Given the description of an element on the screen output the (x, y) to click on. 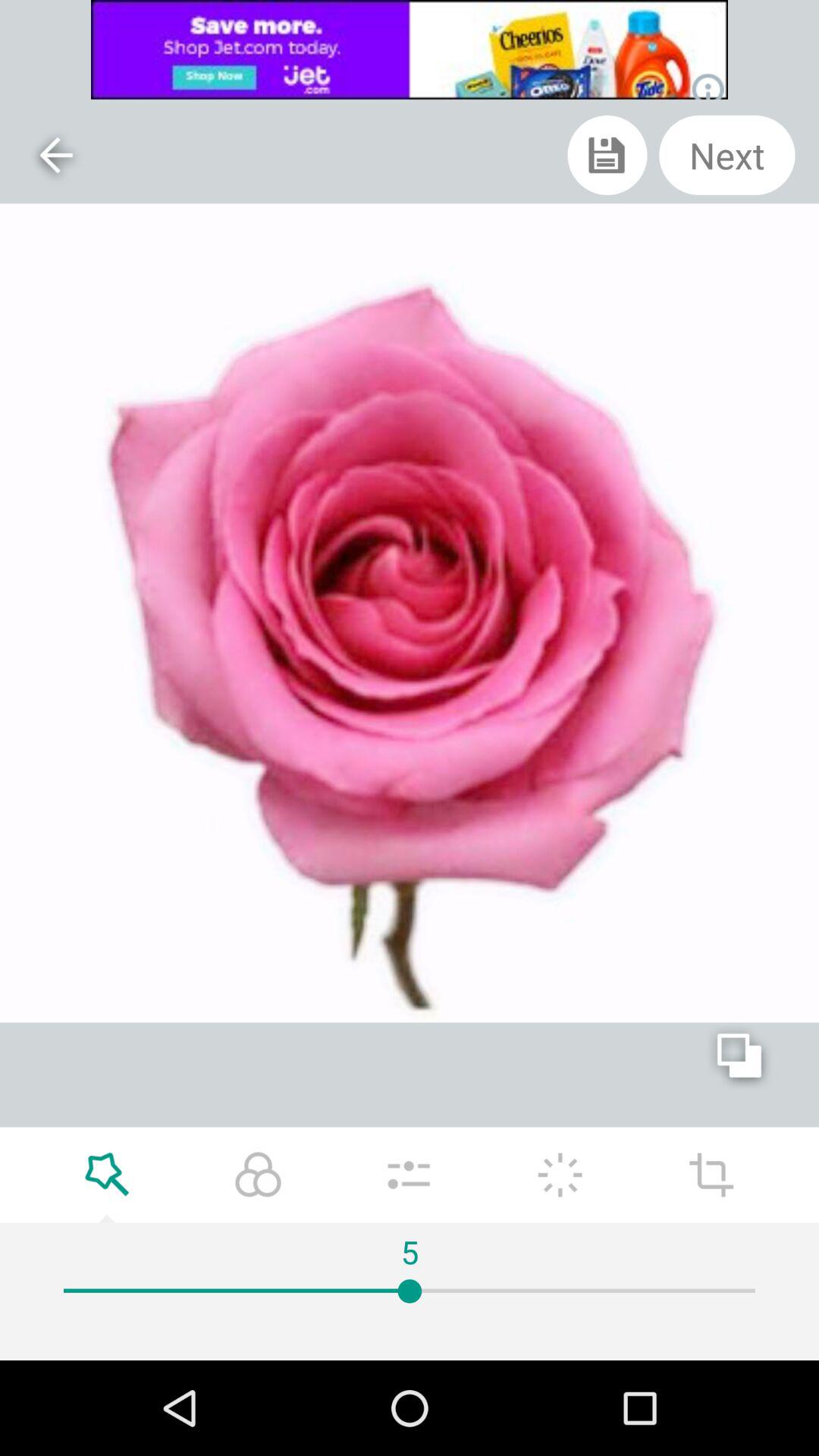
save to memory card (607, 155)
